Given the description of an element on the screen output the (x, y) to click on. 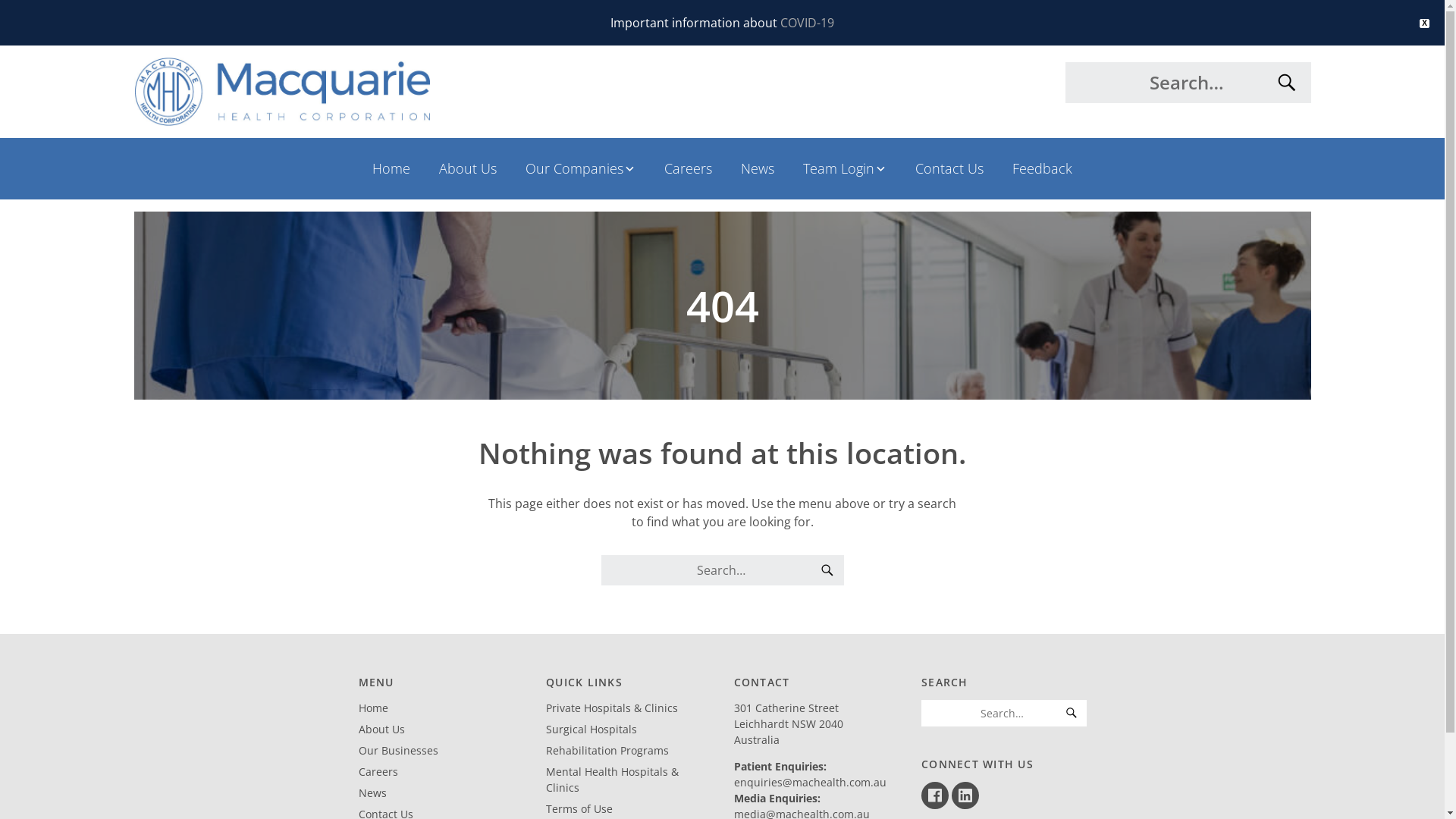
Terms of Use Element type: text (579, 808)
COVID-19 Element type: text (807, 22)
Surgical Hospitals Element type: text (591, 728)
News Element type: text (757, 168)
Search Element type: hover (1071, 712)
Contact Us Element type: text (949, 168)
About Us Element type: text (380, 728)
About Us Element type: text (467, 168)
Mental Health Hospitals & Clinics Element type: text (612, 779)
Return to homepage Element type: hover (421, 91)
Private Hospitals & Clinics Element type: text (611, 707)
Rehabilitation Programs Element type: text (607, 750)
Search Element type: hover (826, 570)
Home Element type: text (372, 707)
Careers Element type: text (688, 168)
Our Companies Element type: text (580, 168)
Feedback Element type: text (1042, 168)
Careers Element type: text (377, 771)
enquiries@machealth.com.au Element type: text (810, 782)
Our Businesses Element type: text (397, 750)
News Element type: text (371, 792)
Search Element type: hover (1285, 82)
Home Element type: text (391, 168)
Team Login Element type: text (844, 168)
